Given the description of an element on the screen output the (x, y) to click on. 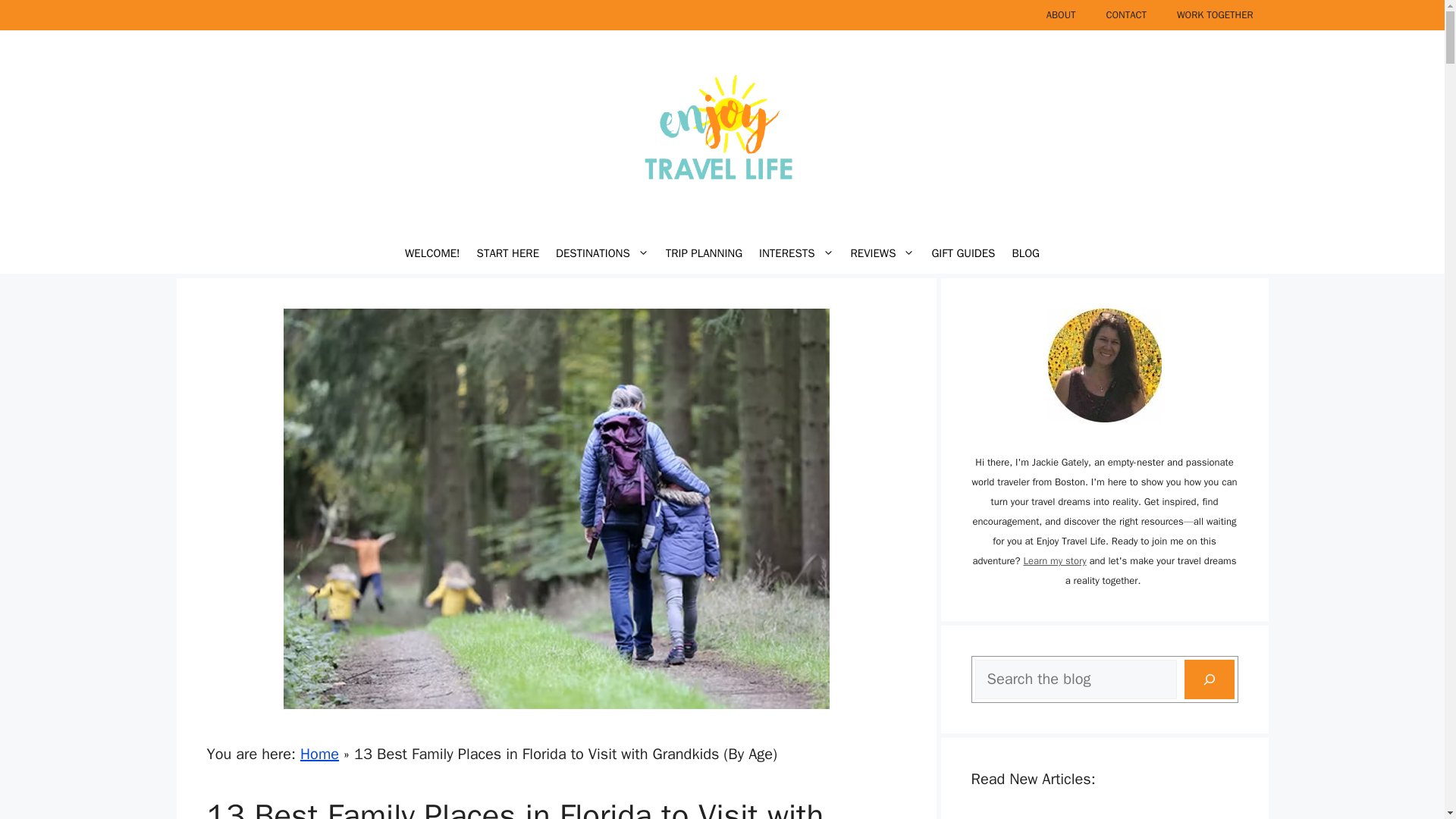
ABOUT (1060, 15)
CONTACT (1125, 15)
WORK TOGETHER (1214, 15)
